Given the description of an element on the screen output the (x, y) to click on. 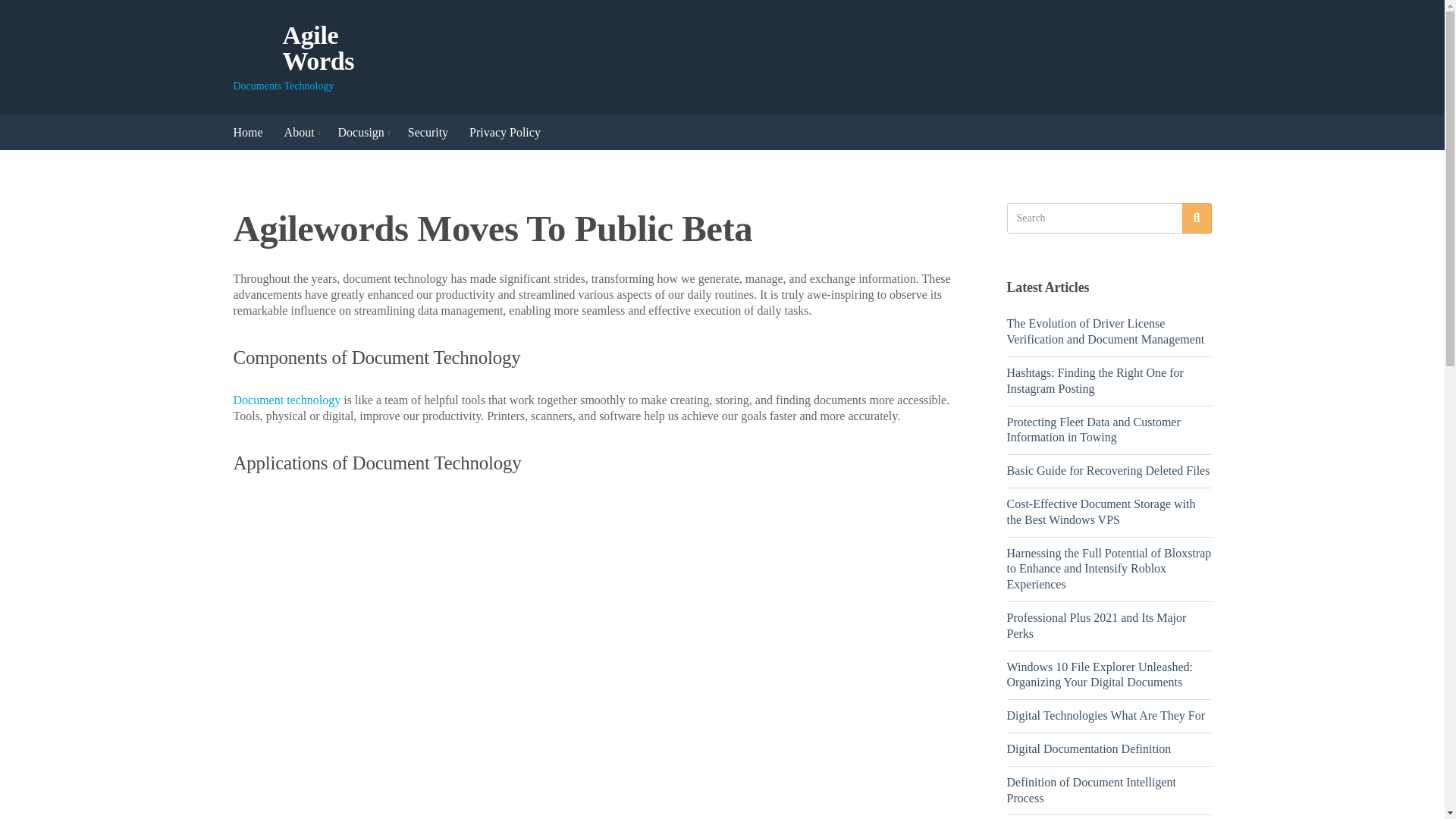
Digital Technologies What Are They For (1106, 715)
Basic Guide for Recovering Deleted Files (1108, 470)
Definition of Document Intelligent Process (1091, 789)
Hashtags: Finding the Right One for Instagram Posting (1095, 380)
About (300, 132)
Search (1196, 218)
Agile Words (317, 48)
Privacy Policy (504, 132)
